Given the description of an element on the screen output the (x, y) to click on. 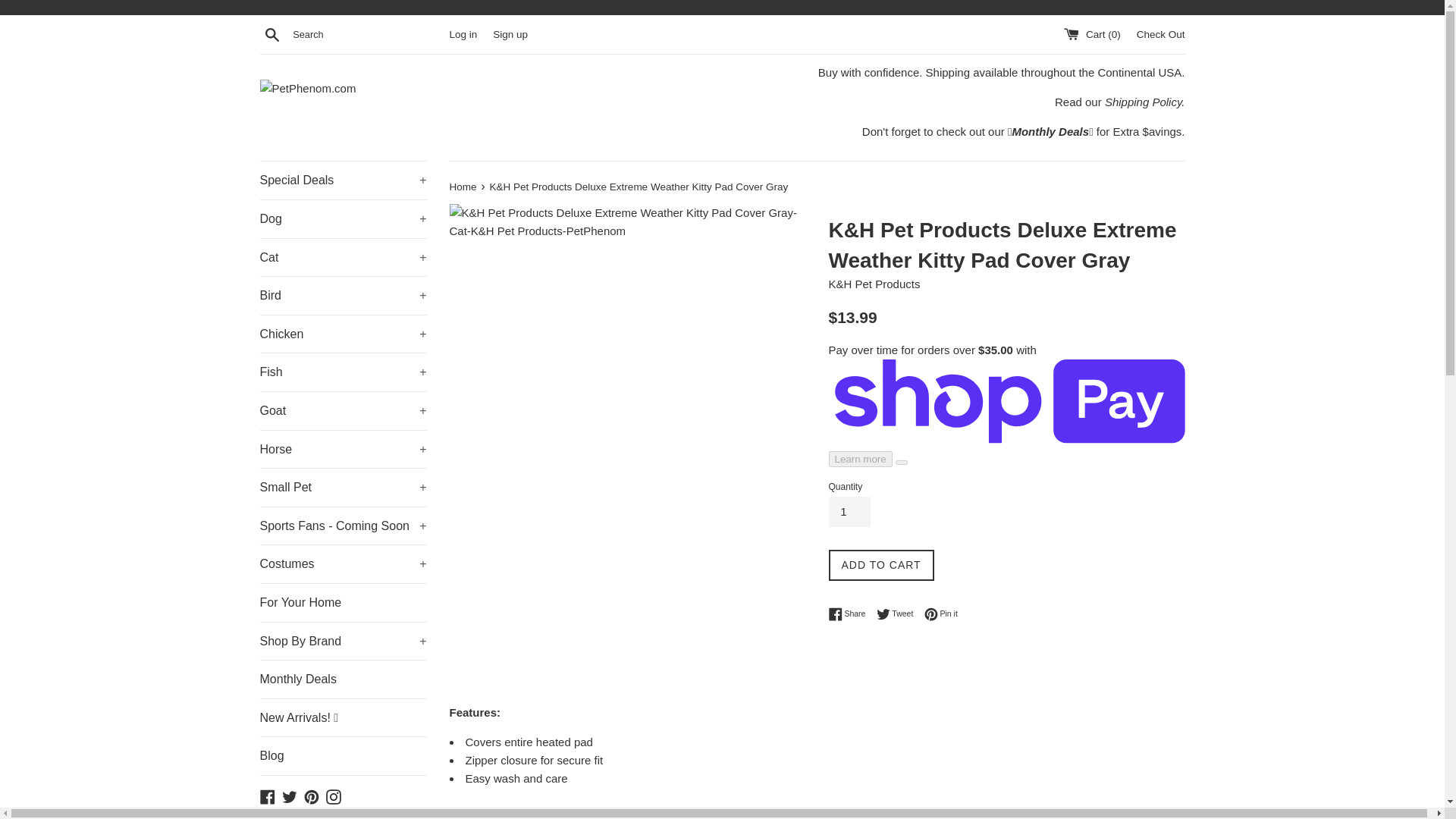
Pin on Pinterest (941, 613)
Shipping Policy (1142, 101)
Sign up (510, 34)
PetPhenom on Twitter (289, 795)
Monthly Deals (1050, 131)
Tweet on Twitter (898, 613)
Share on Facebook (850, 613)
Back to the frontpage (463, 186)
PetPhenom on Instagram (333, 795)
PetPhenom on Pinterest (311, 795)
Log in (462, 34)
PetPhenom on Facebook (267, 795)
Check Out (1161, 34)
Search (271, 34)
1 (848, 511)
